Given the description of an element on the screen output the (x, y) to click on. 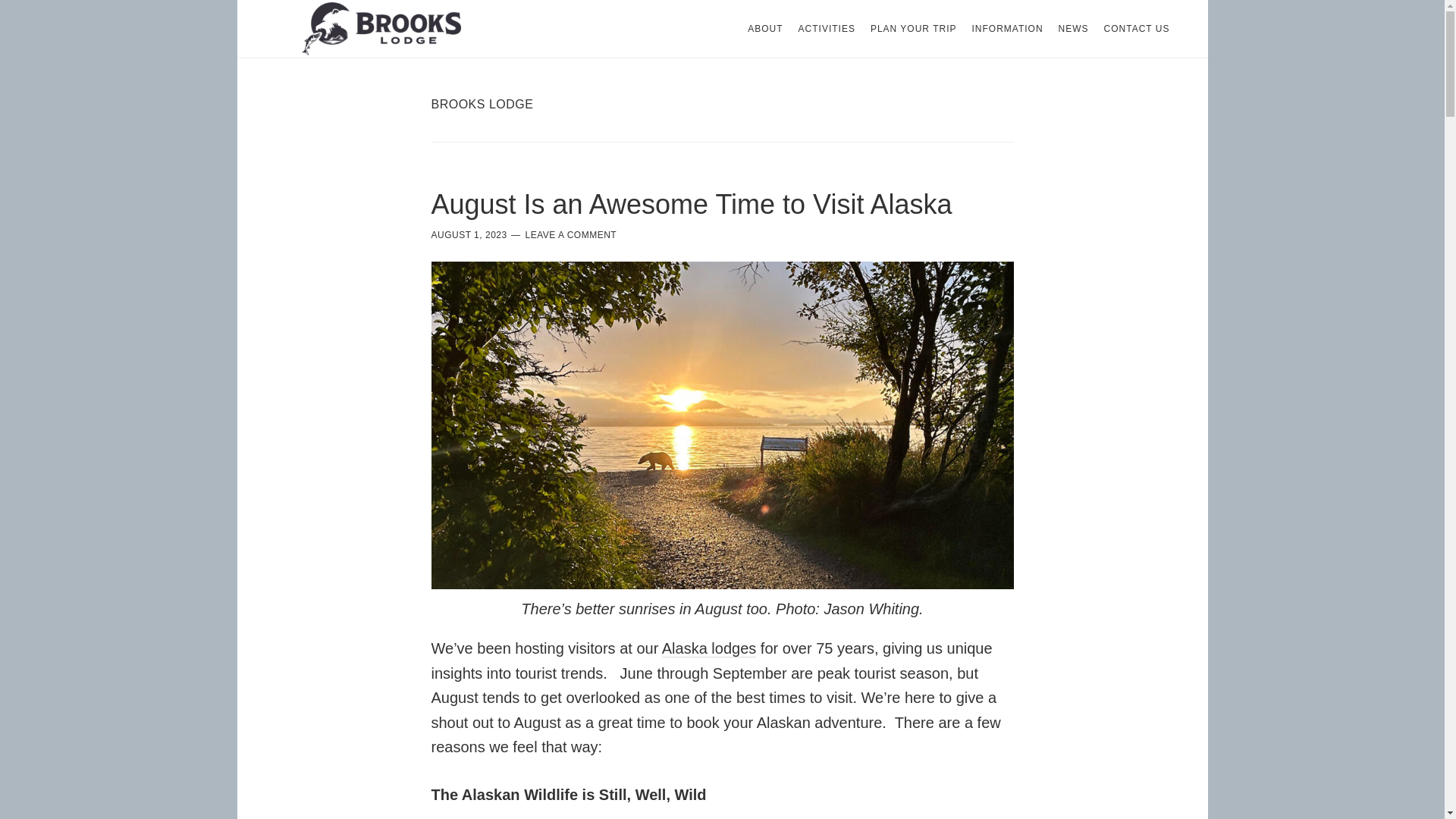
NEWS (1073, 28)
August Is an Awesome Time to Visit Alaska (691, 204)
PLAN YOUR TRIP (913, 28)
INFORMATION (1006, 28)
LEAVE A COMMENT (571, 235)
CONTACT US (1136, 28)
ABOUT (764, 28)
Alaska lodges (709, 648)
ACTIVITIES (826, 28)
BROOKS LODGE (380, 28)
